Given the description of an element on the screen output the (x, y) to click on. 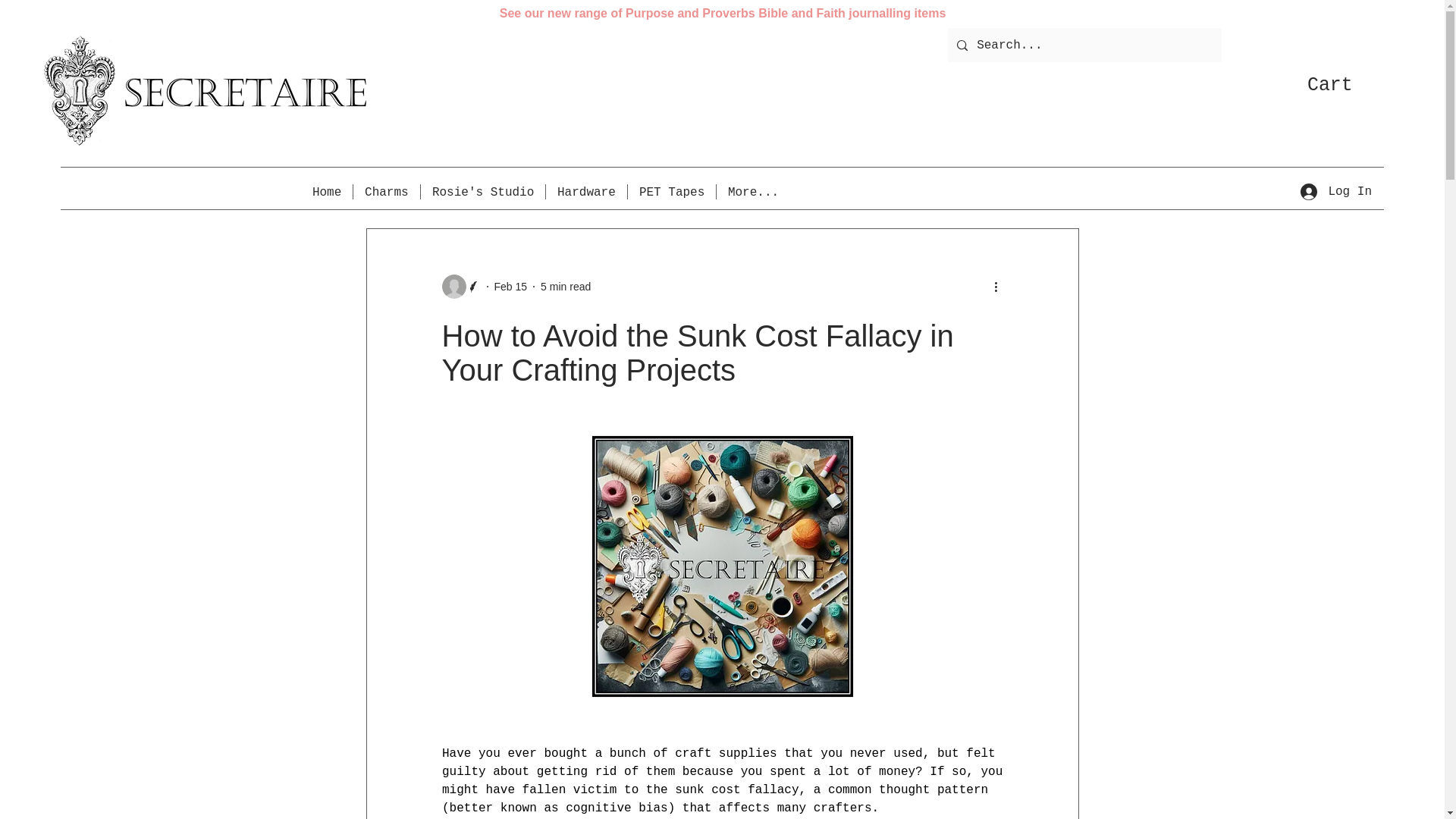
Charms (386, 191)
Home (326, 191)
Log In (1335, 191)
Feb 15 (511, 286)
Cart (1345, 83)
Hardware (586, 191)
Rosie's Studio (482, 191)
Cart (1345, 83)
PET Tapes (671, 191)
5 min read (565, 286)
